Given the description of an element on the screen output the (x, y) to click on. 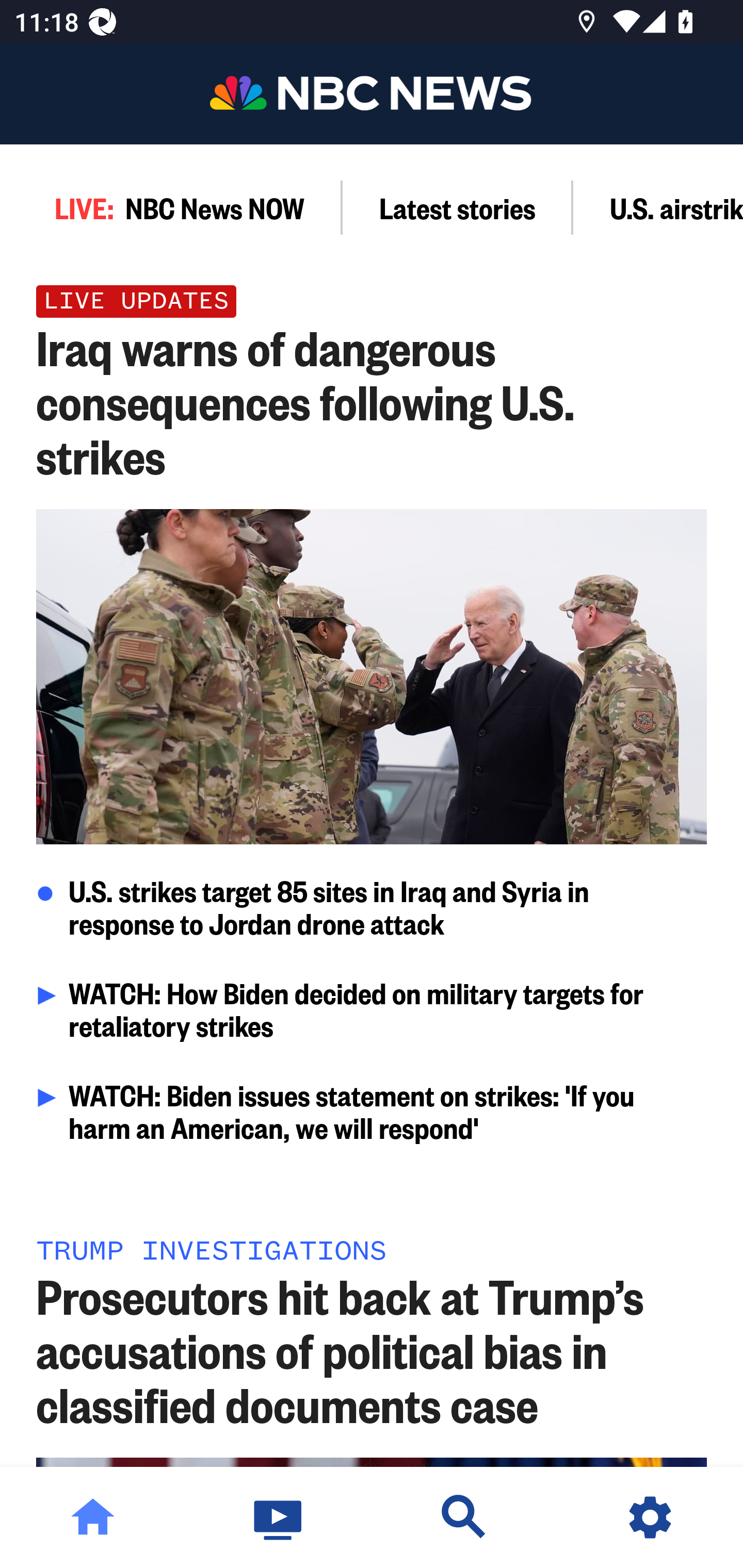
LIVE:  NBC News NOW (171, 207)
Latest stories Section,Latest stories (457, 207)
U.S. airstrikes (658, 207)
Watch (278, 1517)
Discover (464, 1517)
Settings (650, 1517)
